Given the description of an element on the screen output the (x, y) to click on. 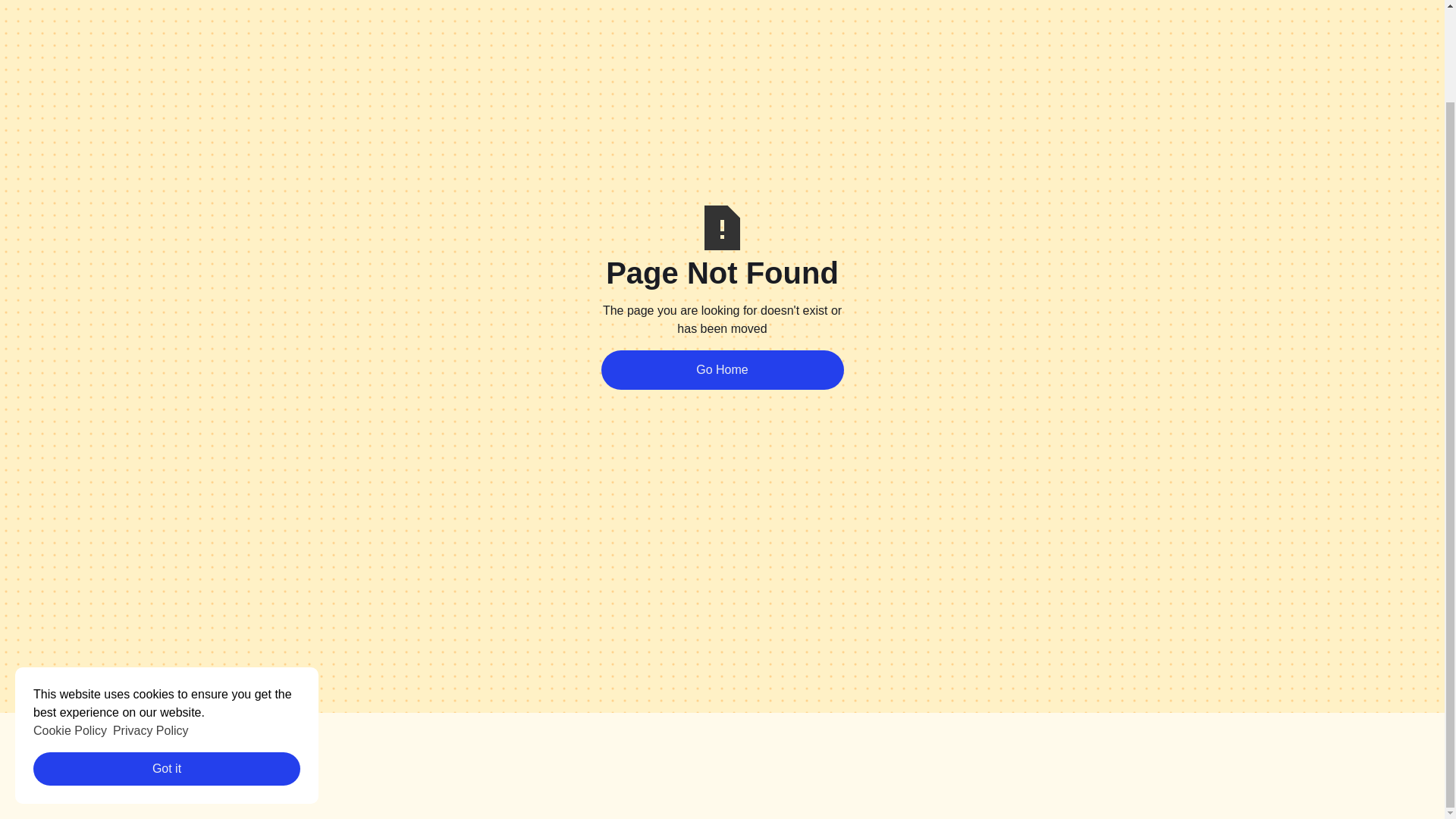
Privacy Policy (151, 624)
Got it (166, 662)
Cookie Policy (69, 624)
Go Home (721, 369)
